Given the description of an element on the screen output the (x, y) to click on. 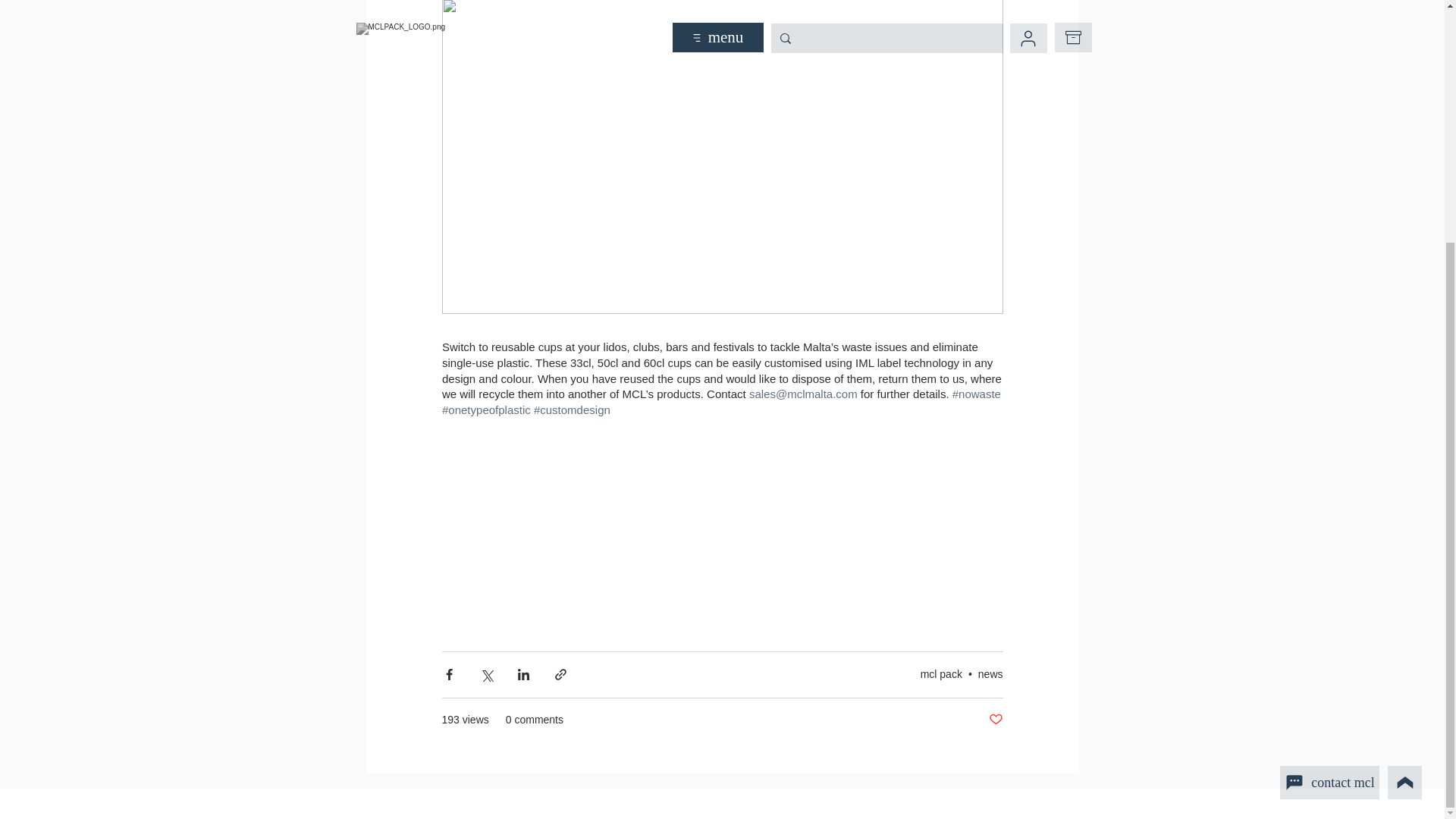
Post not marked as liked (995, 719)
contact mcl (1328, 447)
news (990, 674)
mcl pack (941, 674)
